Given the description of an element on the screen output the (x, y) to click on. 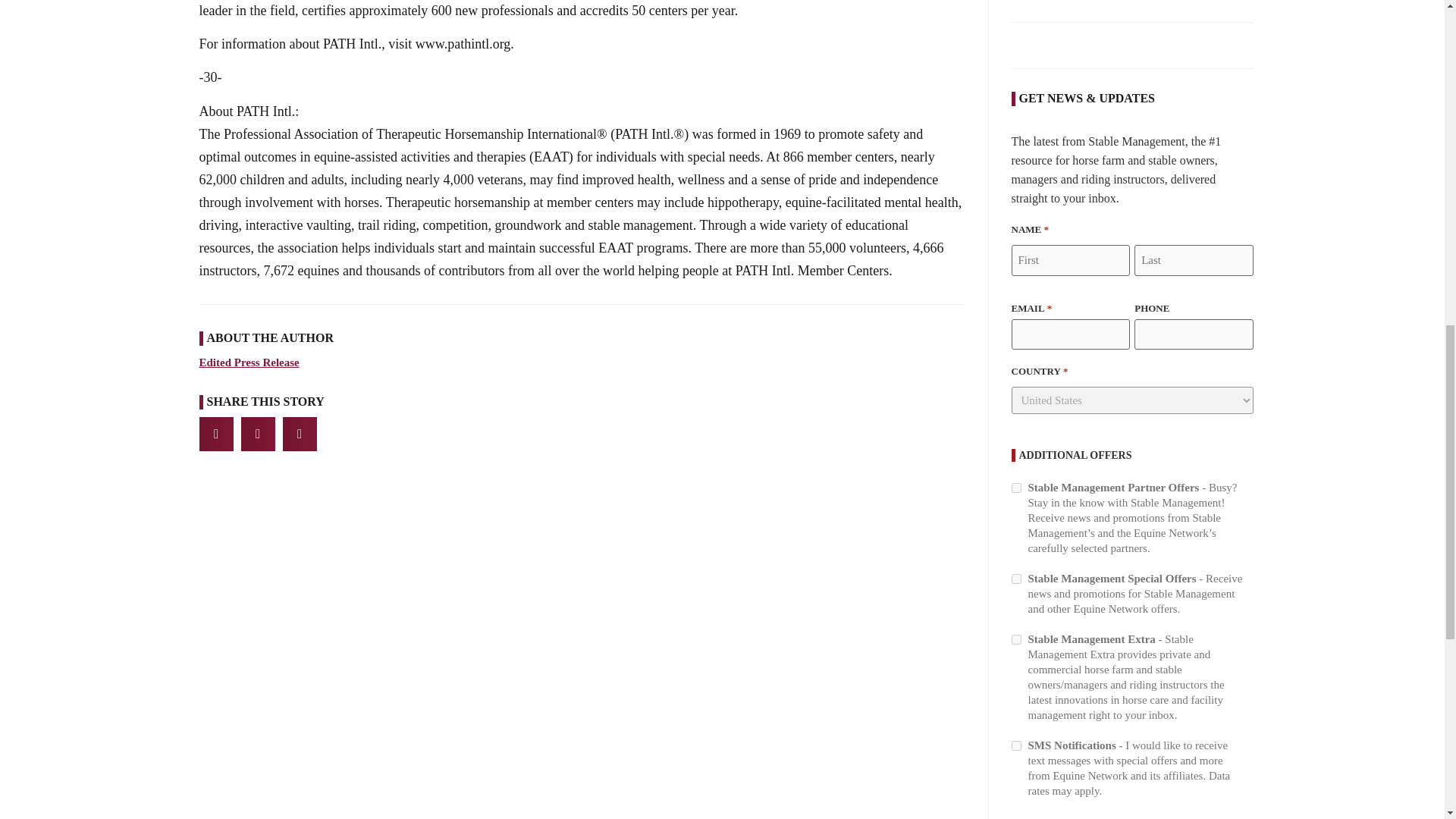
4abea021-0715-4258-8505-deecee9d4fc1 (1016, 578)
e4e2edd8-40e7-4528-9fc3-6664a65b9fb2 (1016, 488)
7d0c6f1d-69c5-4522-93be-35477d857179 (1016, 639)
SMS Notifications (1016, 746)
